Given the description of an element on the screen output the (x, y) to click on. 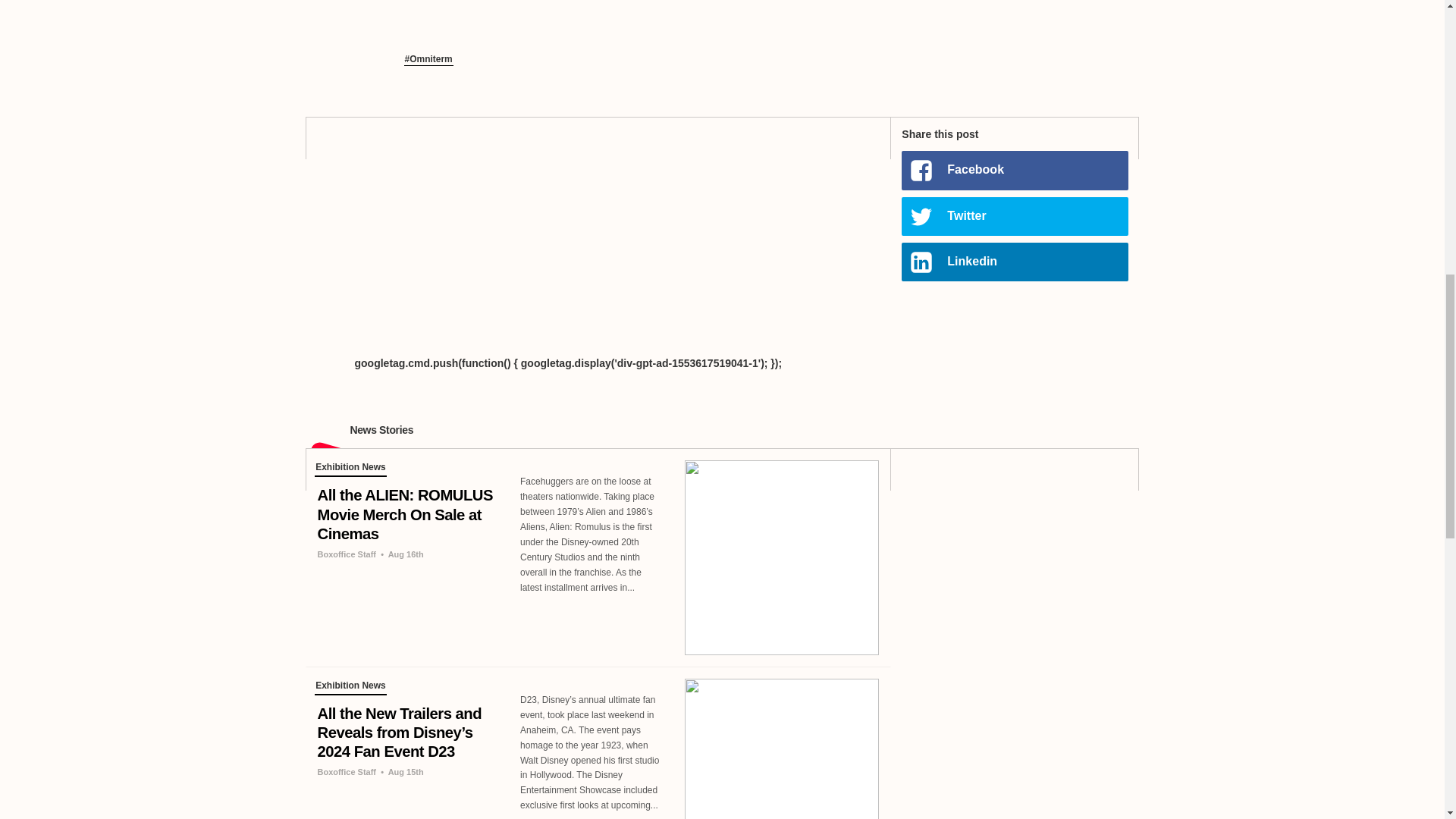
Twitter (1013, 216)
Exhibition News (349, 468)
Linkedin (1013, 261)
Exhibition News (349, 687)
Facebook (1013, 169)
Omniterm (427, 60)
